Given the description of an element on the screen output the (x, y) to click on. 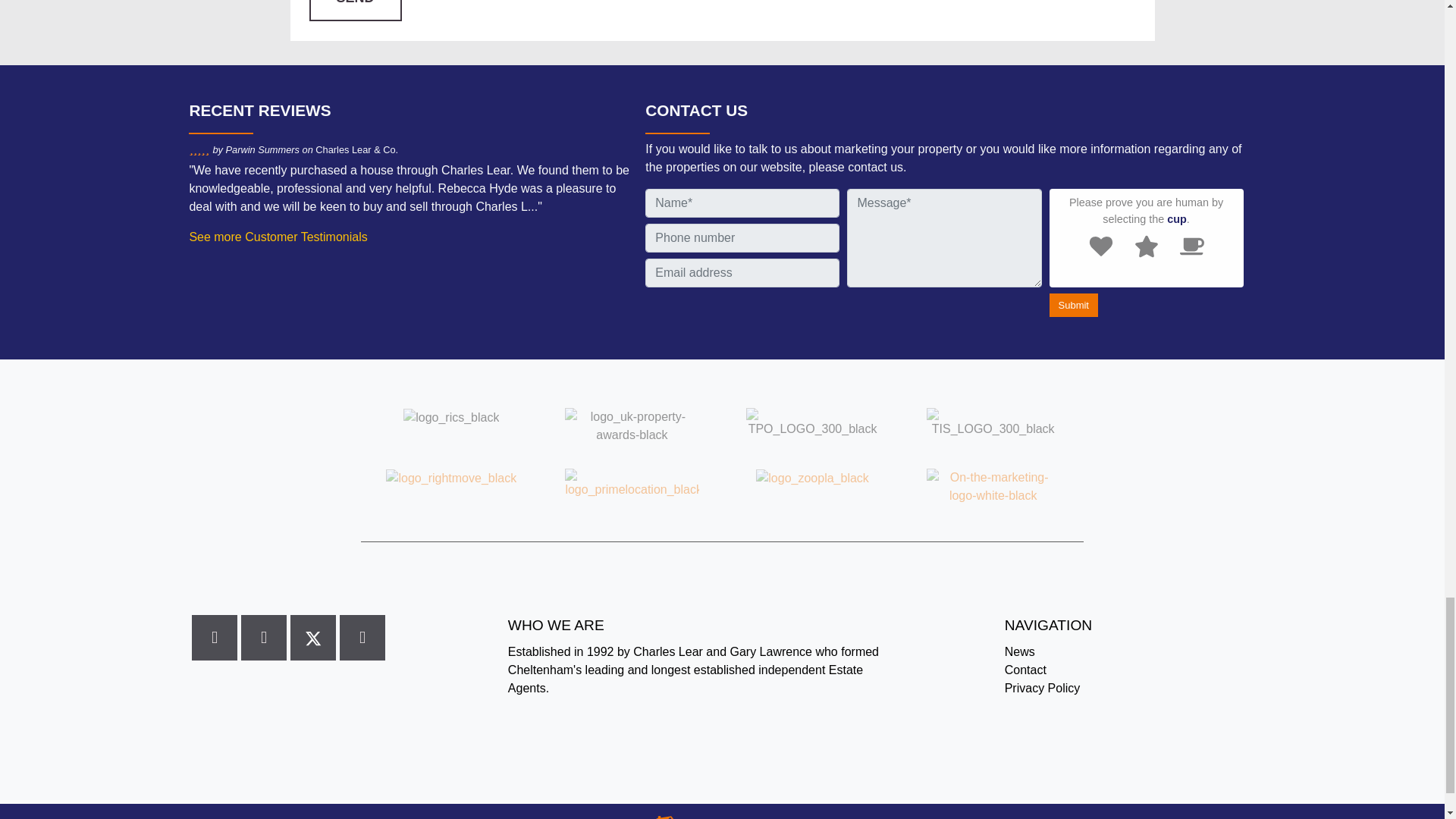
Send (354, 10)
Submit (1073, 305)
